Given the description of an element on the screen output the (x, y) to click on. 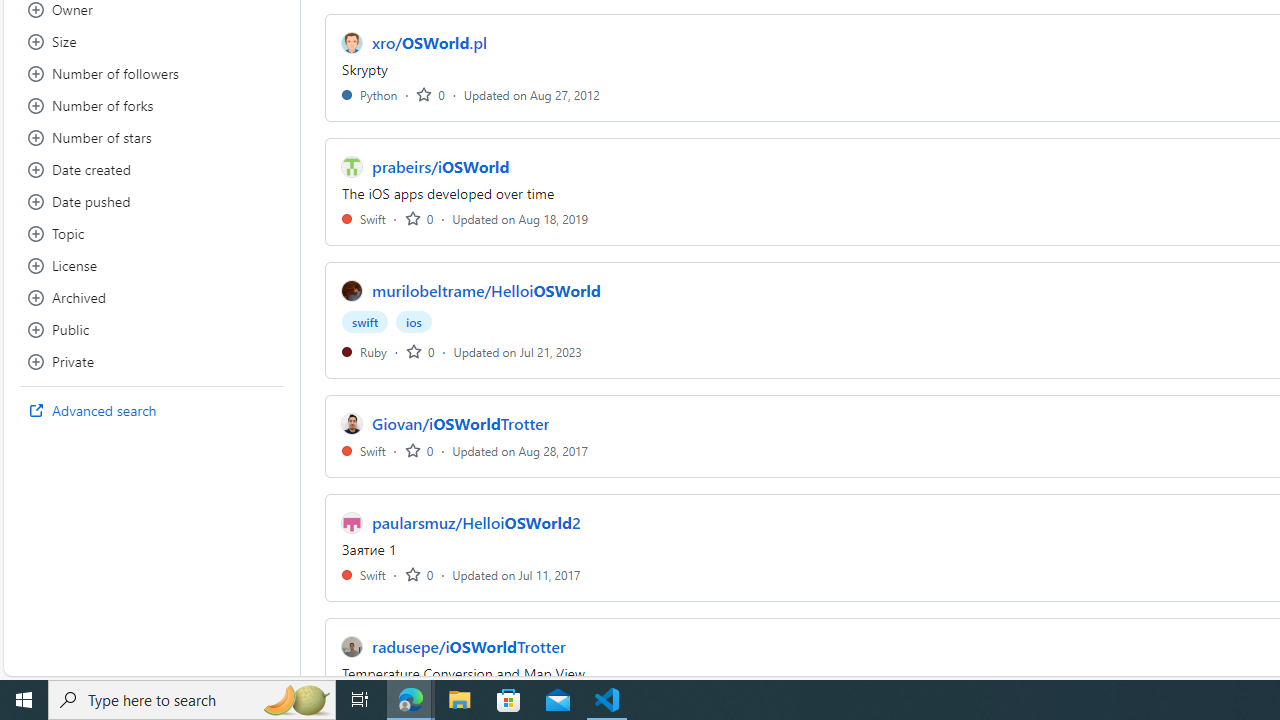
Updated on Aug 28, 2017 (519, 450)
radusepe/iOSWorldTrotter (468, 646)
murilobeltrame/HelloiOSWorld (486, 291)
paularsmuz/HelloiOSWorld2 (476, 522)
Updated on Aug 27, 2012 (531, 93)
Updated on Aug 18, 2019 (519, 218)
prabeirs/iOSWorld (440, 166)
Updated on Jul 21, 2023 (517, 351)
Advanced search (152, 410)
Swift (363, 574)
Giovan/iOSWorldTrotter (461, 423)
